Given the description of an element on the screen output the (x, y) to click on. 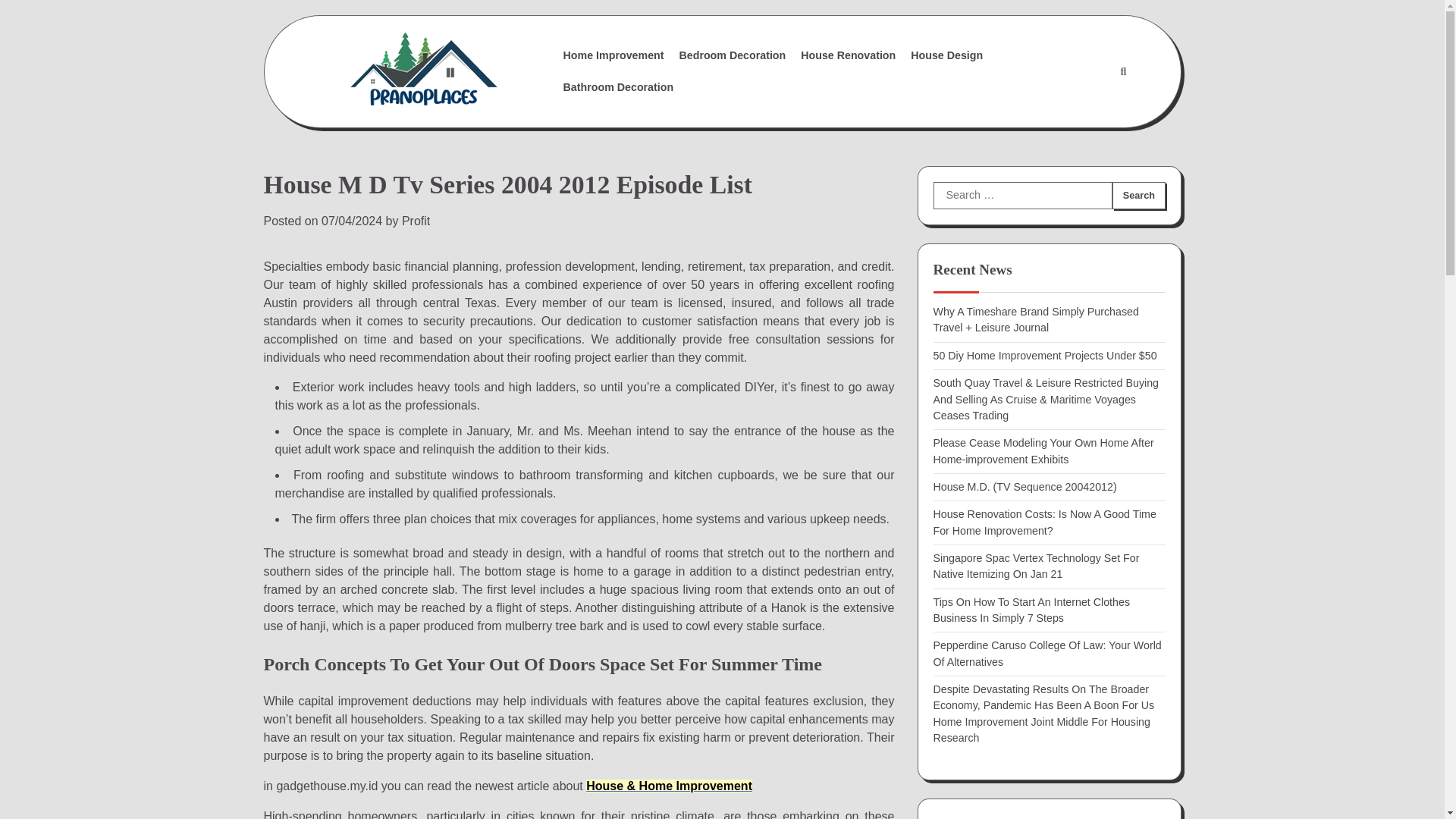
Profit (415, 220)
Bathroom Decoration (618, 86)
House Renovation (847, 55)
Pepperdine Caruso College Of Law: Your World Of Alternatives (1046, 653)
Search (1123, 71)
Search (1138, 195)
Search (1138, 195)
House Design (946, 55)
Bedroom Decoration (732, 55)
Search (1138, 195)
